Given the description of an element on the screen output the (x, y) to click on. 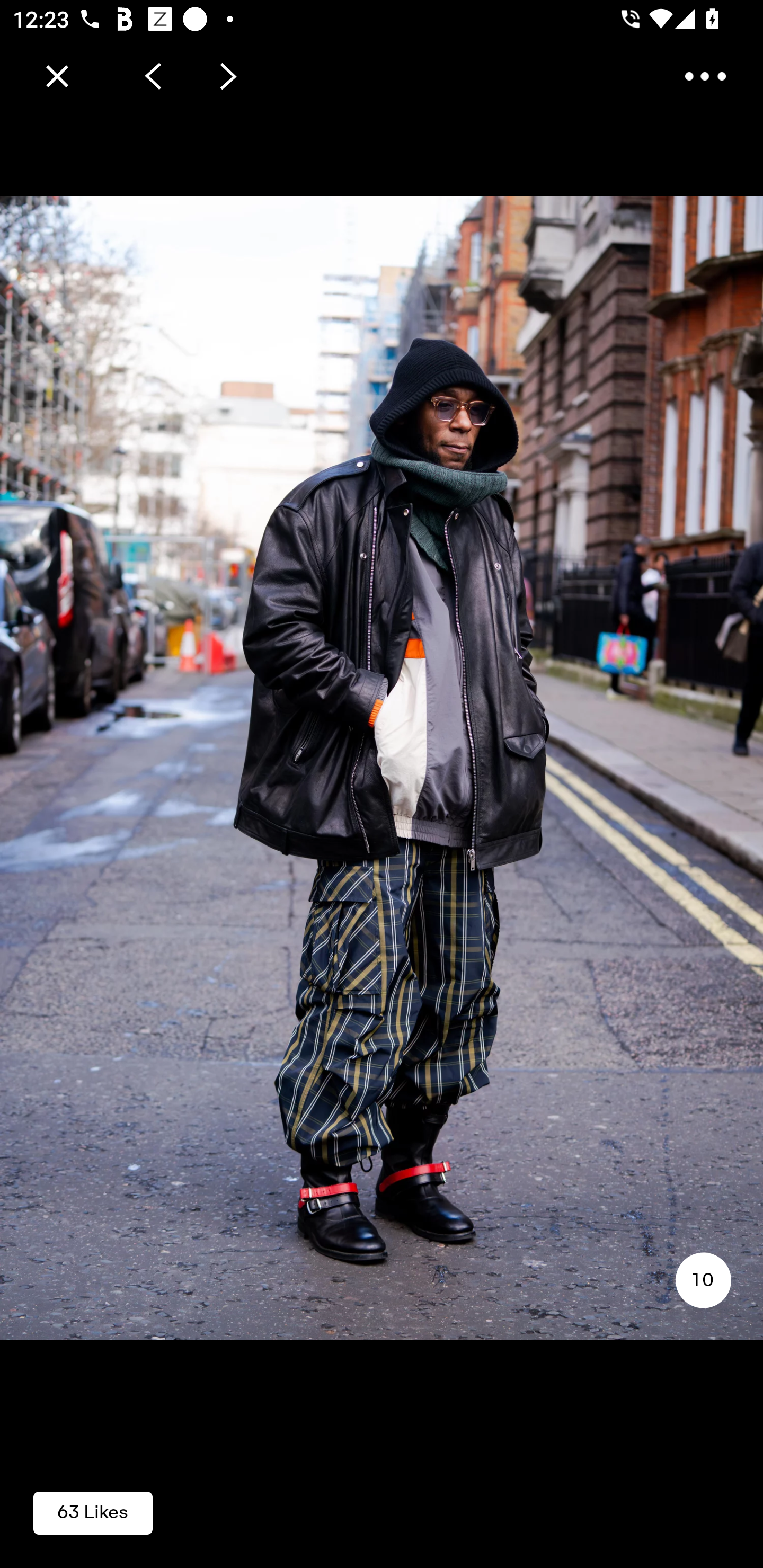
10 (702, 1279)
63 Likes (93, 1512)
